Given the description of an element on the screen output the (x, y) to click on. 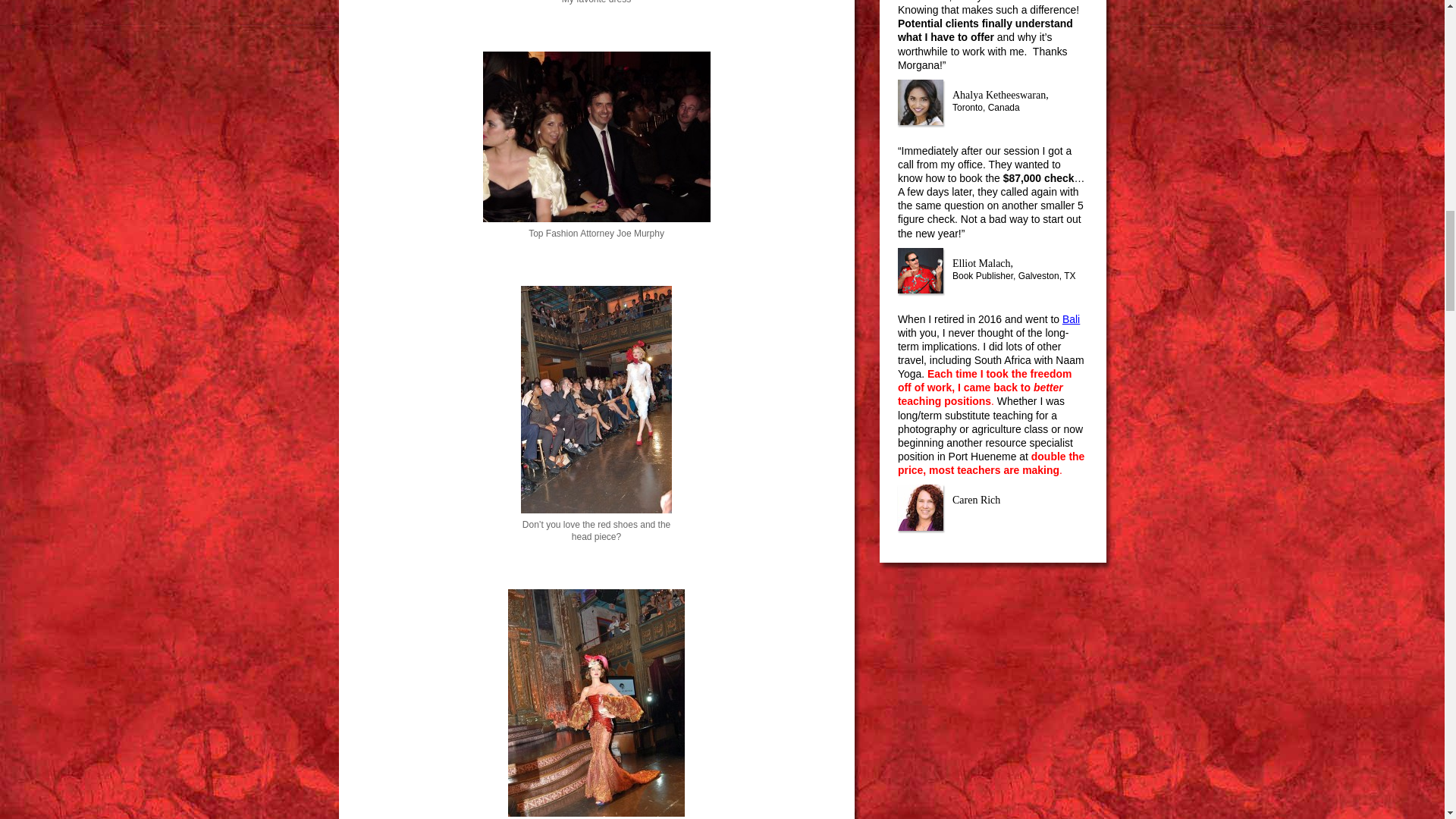
Top Fashion Attorney Joe Murphy (596, 136)
